Given the description of an element on the screen output the (x, y) to click on. 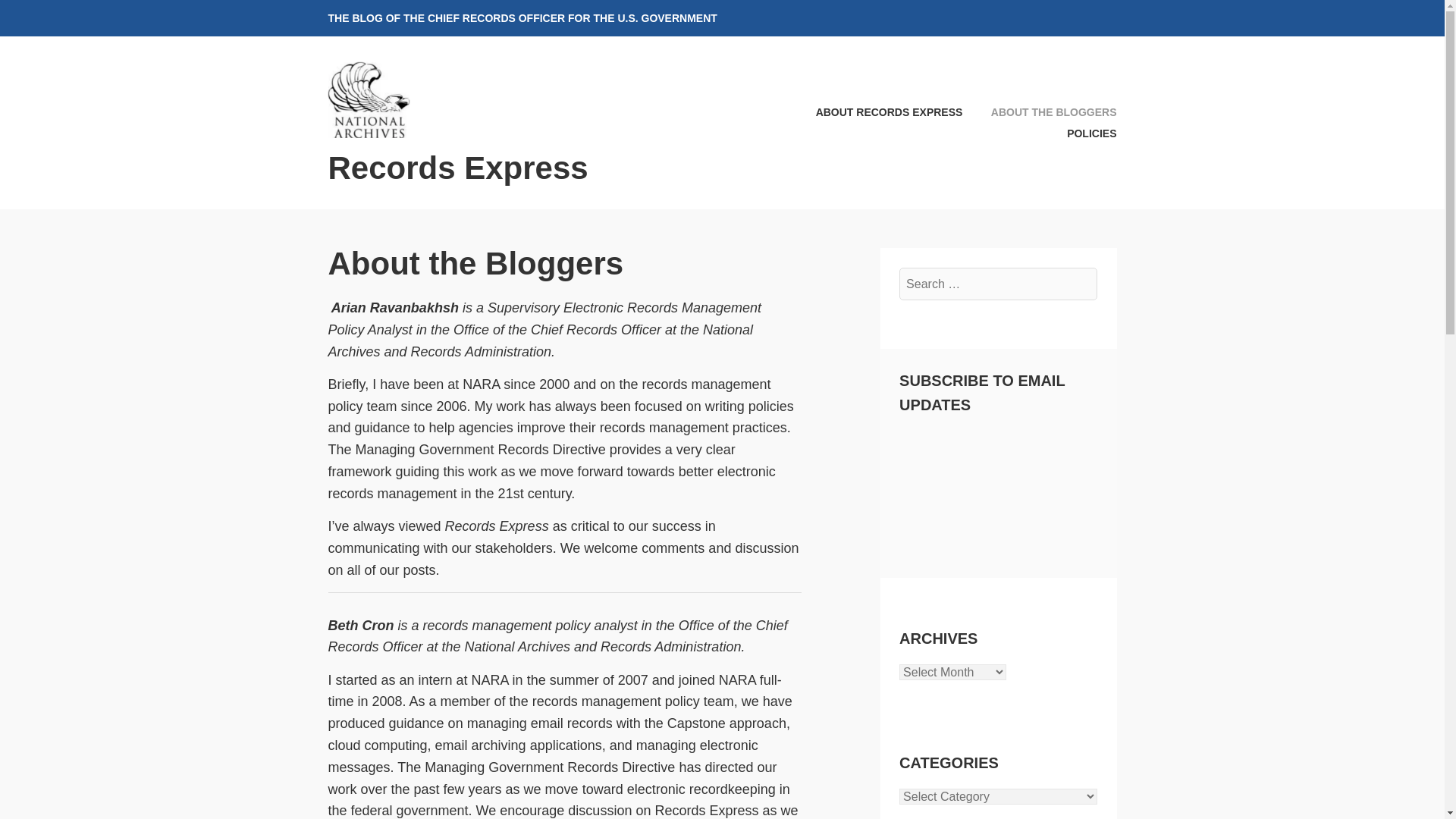
POLICIES (1079, 133)
Records Express (457, 167)
ABOUT THE BLOGGERS (1040, 111)
Form 0 (998, 488)
ABOUT RECORDS EXPRESS (876, 111)
Search (48, 17)
